Given the description of an element on the screen output the (x, y) to click on. 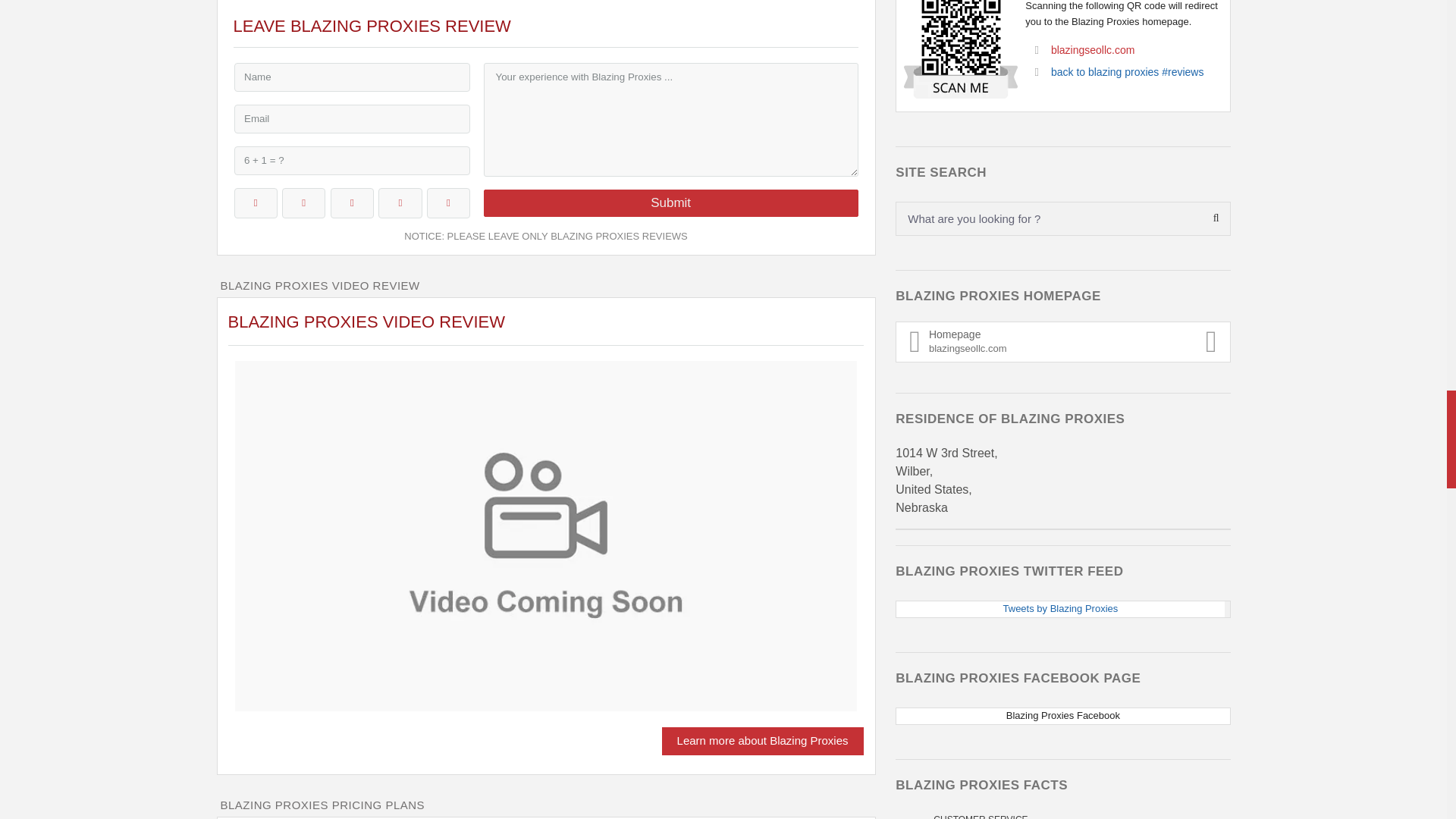
Your Review or Question (671, 119)
2 (303, 203)
Visit Blazing Proxies Homepage (762, 741)
Submit (671, 203)
4 (400, 203)
3 (352, 203)
5 (448, 203)
Submit (671, 203)
Submit (671, 203)
1 (254, 203)
